Given the description of an element on the screen output the (x, y) to click on. 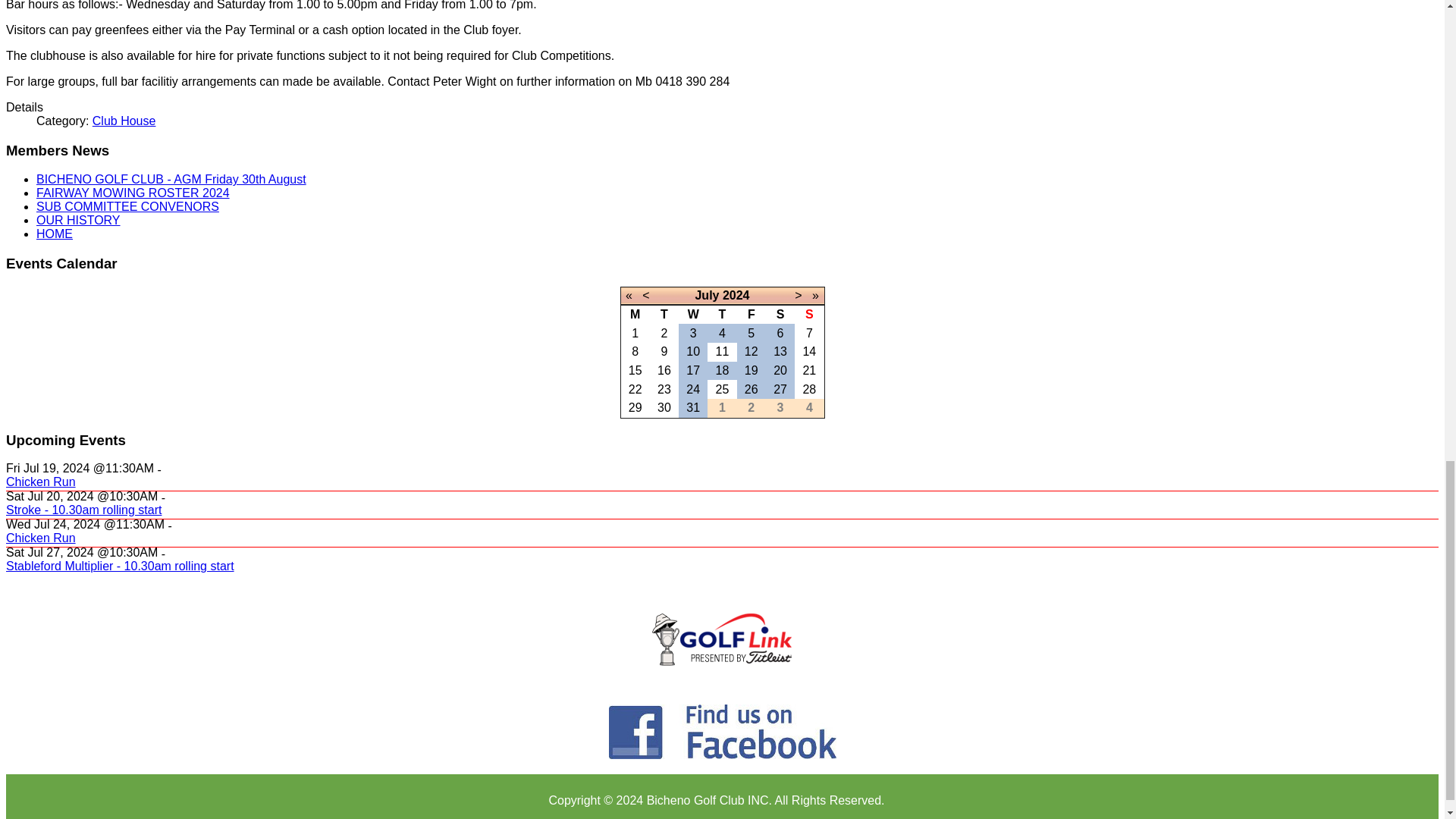
Go to calendar - current day (808, 350)
Go to calendar - current day (780, 350)
SUB COMMITTEE CONVENORS (127, 205)
Go to calendar - current day (722, 369)
Club House (124, 120)
Go to calendar - current day (692, 369)
Go to calendar - current day (692, 350)
Go to calendar - current day (664, 369)
Go to calendar - current day (751, 350)
July (706, 295)
OUR HISTORY (78, 219)
BICHENO GOLF CLUB - AGM Friday 30th August (170, 178)
Go to calendar - current day (635, 369)
HOME (54, 233)
10 (692, 350)
